Given the description of an element on the screen output the (x, y) to click on. 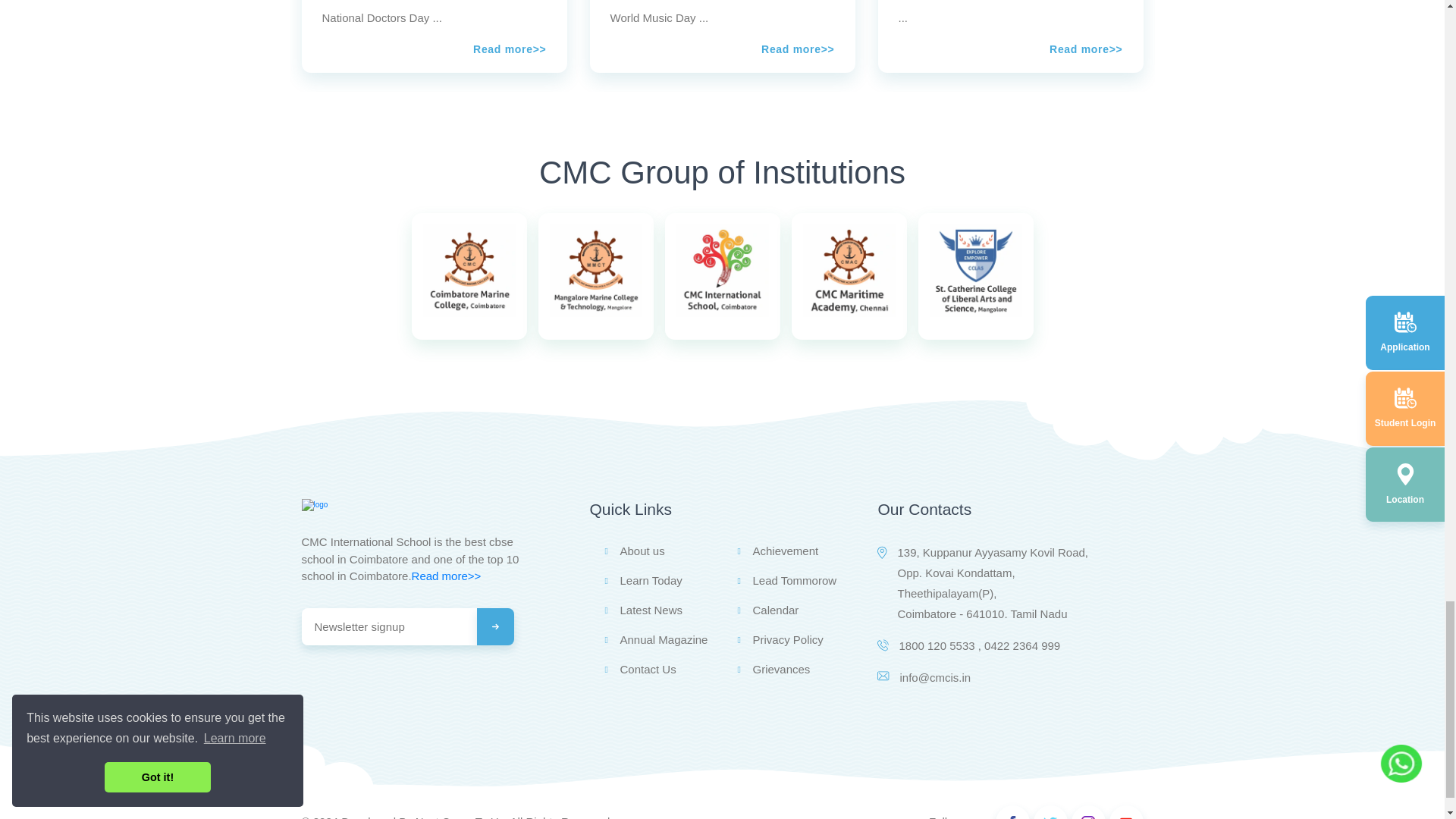
Instagram (1125, 817)
Twitter (1050, 817)
Facebook (1012, 817)
Instagram (1087, 817)
